Given the description of an element on the screen output the (x, y) to click on. 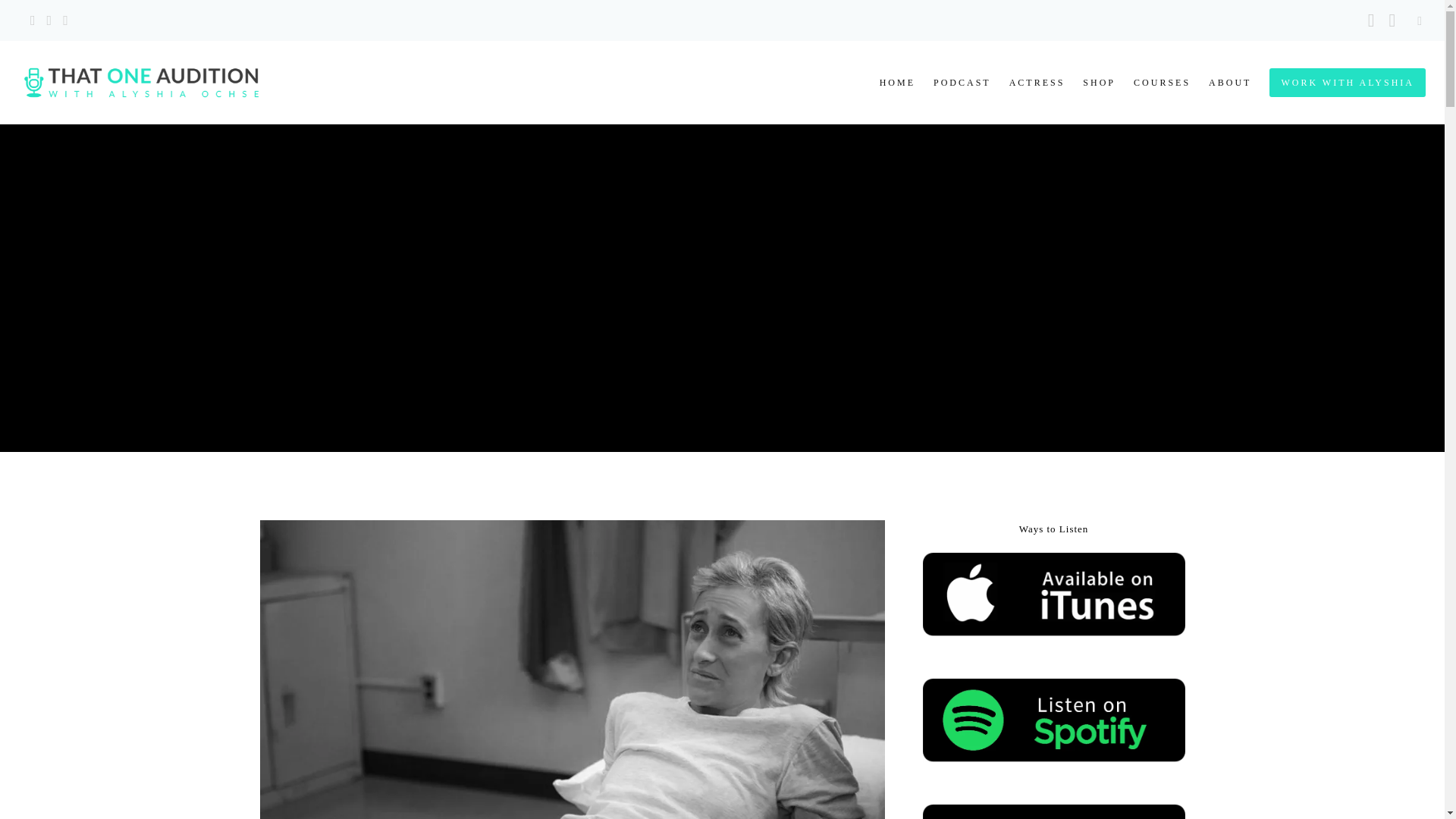
ACTRESS (1028, 82)
COURSES (1153, 82)
WORK WITH ALYSHIA (1337, 82)
PODCAST (953, 82)
